Given the description of an element on the screen output the (x, y) to click on. 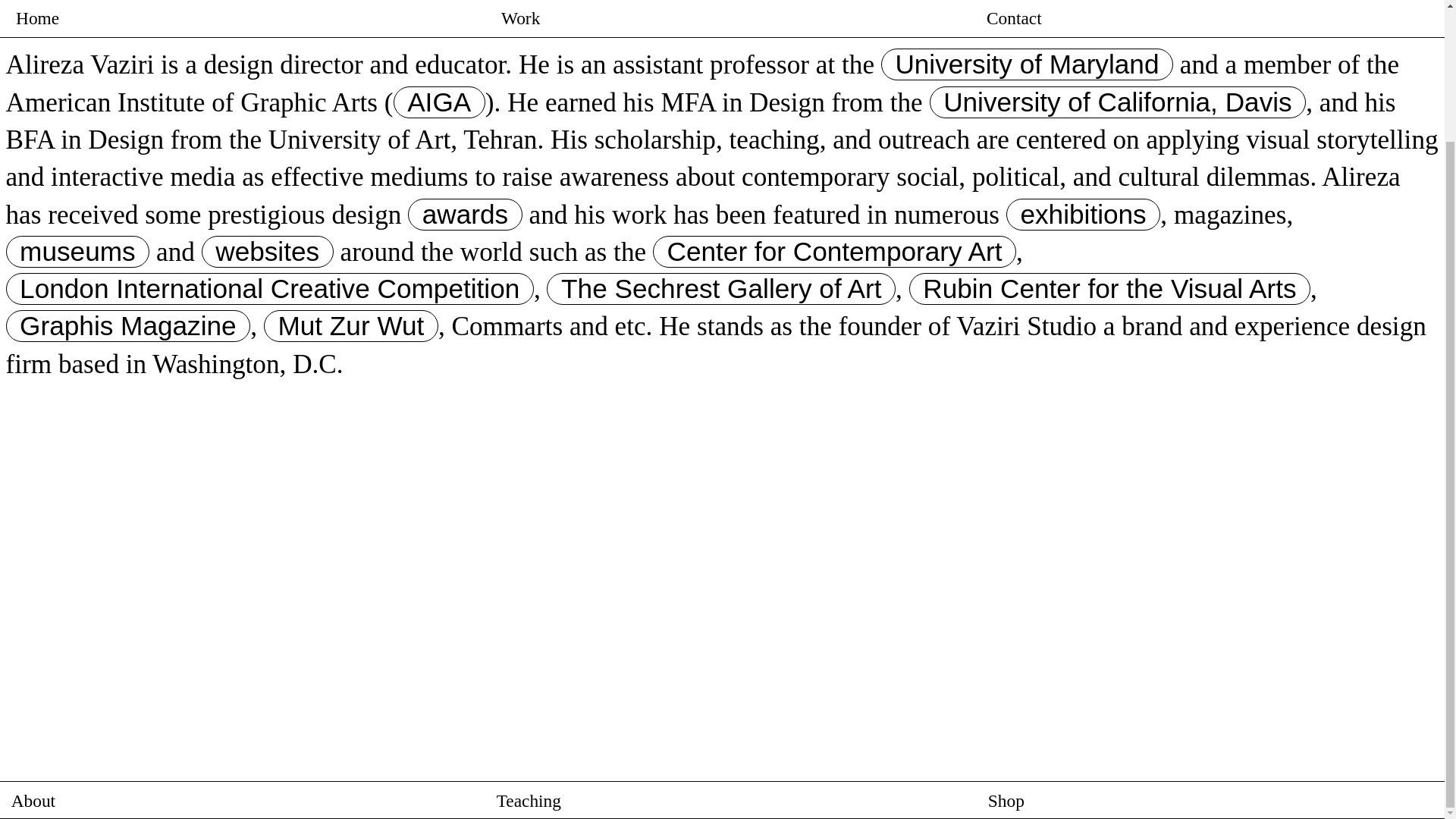
Mut Zur Wut (350, 326)
Graphis Magazine (127, 326)
The Sechrest Gallery of Art (721, 288)
University of California, Davis (1118, 101)
Student Work (721, 639)
Graphis Magazine (127, 326)
exhibitions (1083, 214)
museums  (81, 251)
awards (464, 214)
websites (267, 251)
University of Maryland (1026, 64)
Rubin Center for the Visual Arts (1109, 288)
AIGA (438, 101)
University of California, Davis (1118, 102)
awards (464, 214)
